Given the description of an element on the screen output the (x, y) to click on. 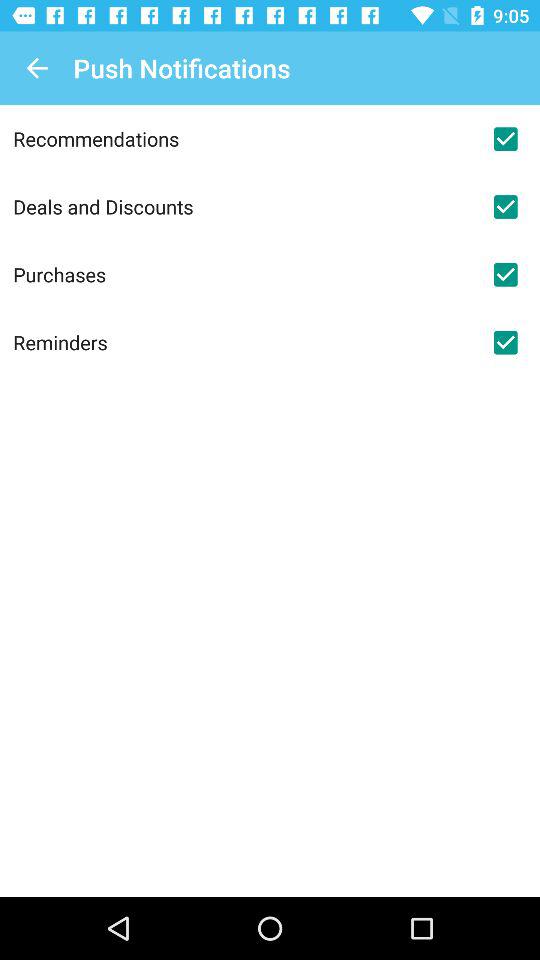
open icon at the top left corner (36, 68)
